Given the description of an element on the screen output the (x, y) to click on. 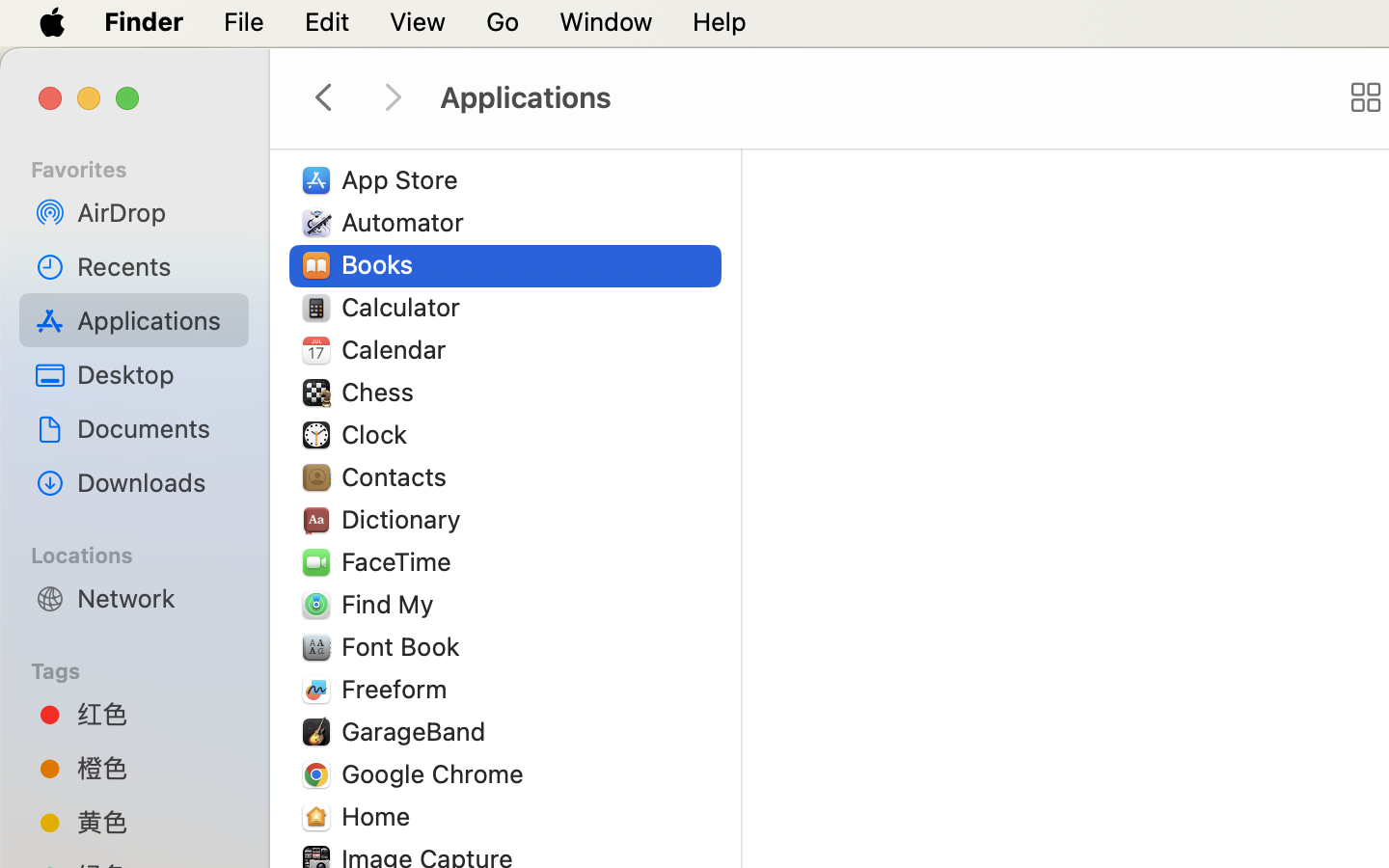
GarageBand Element type: AXTextField (417, 730)
Calculator Element type: AXTextField (404, 306)
Clock Element type: AXTextField (378, 433)
Network Element type: AXStaticText (155, 597)
